Given the description of an element on the screen output the (x, y) to click on. 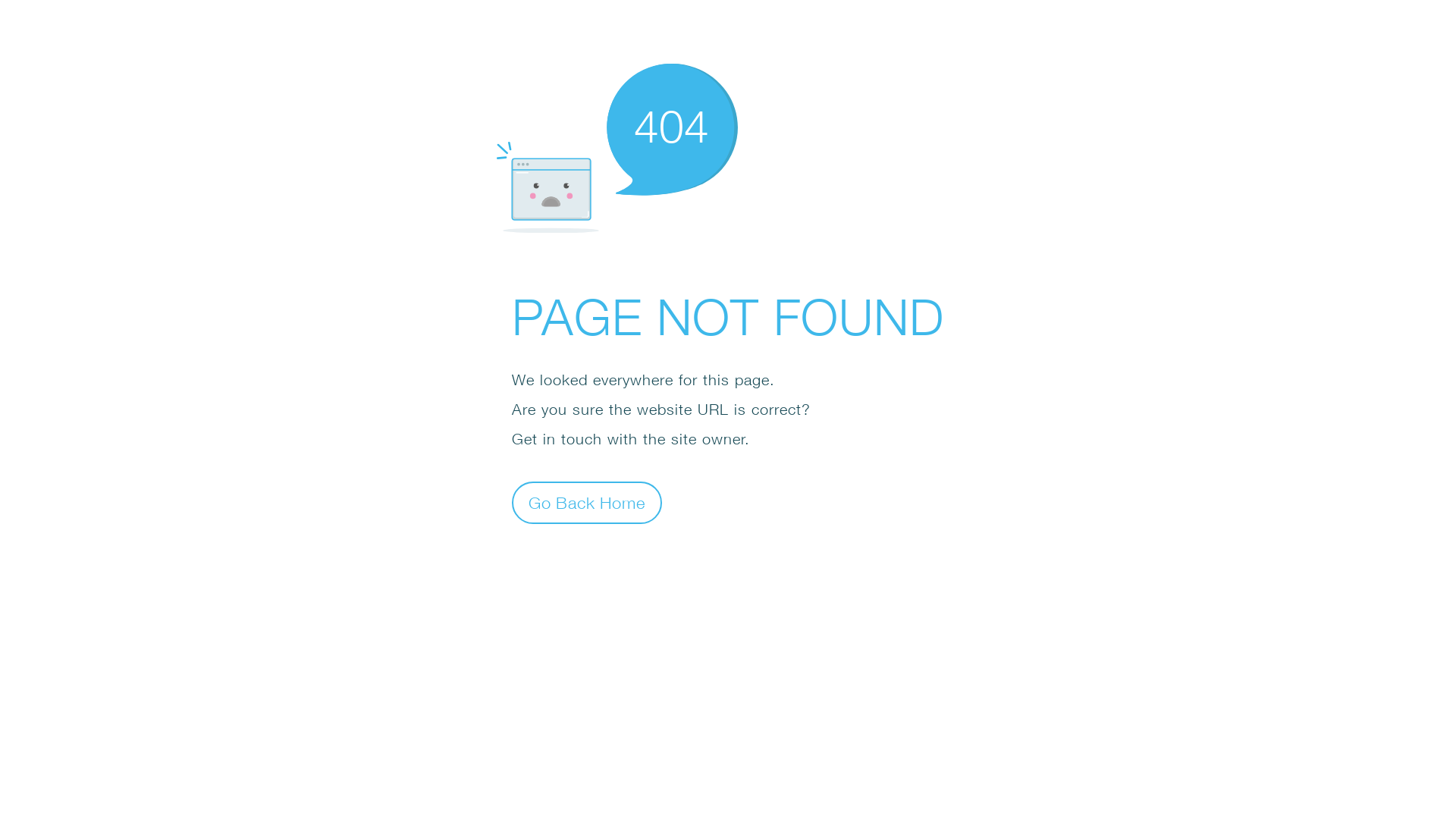
Go Back Home Element type: text (586, 502)
